Given the description of an element on the screen output the (x, y) to click on. 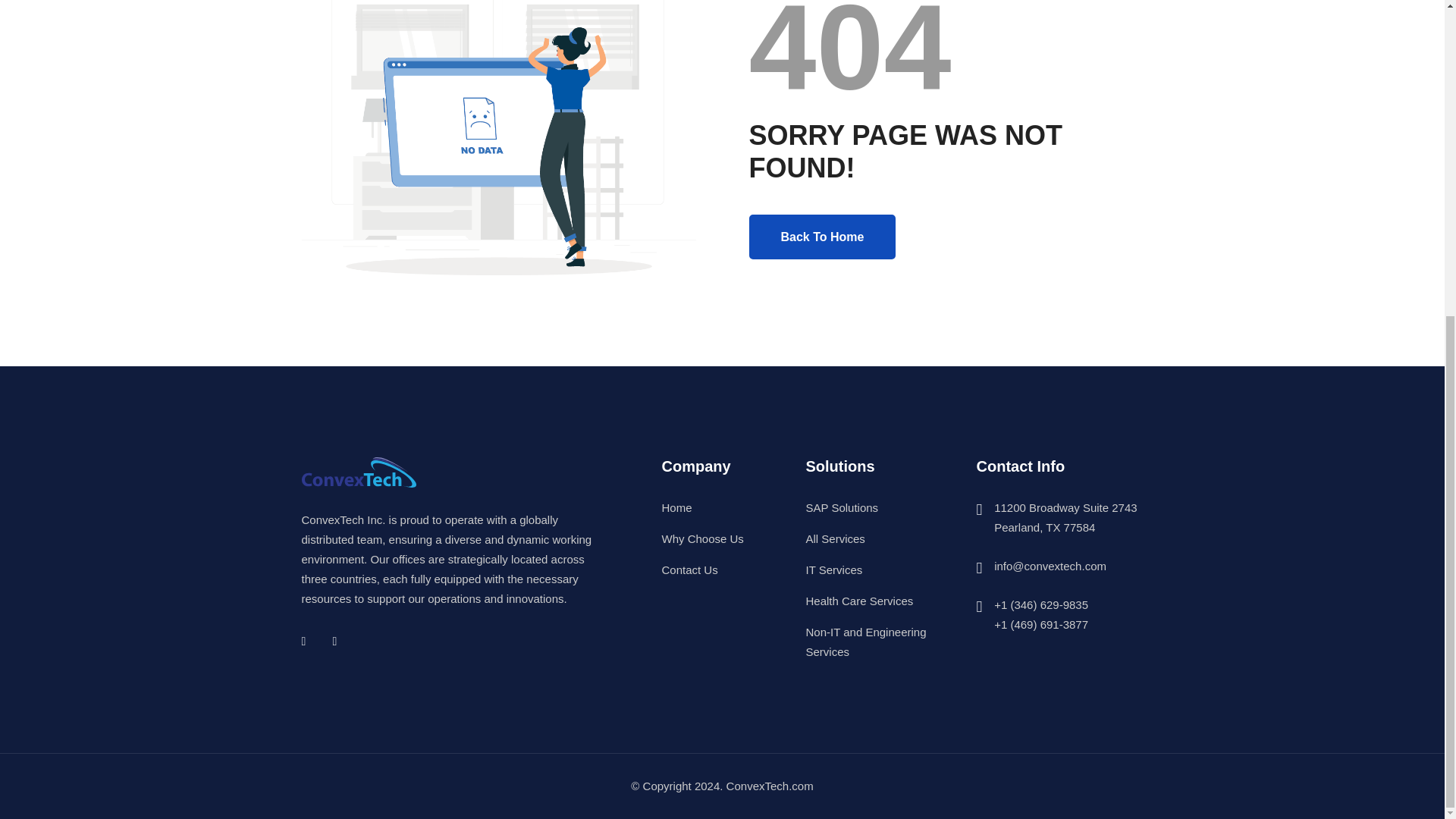
Back To Home (822, 236)
Home (676, 507)
IT Services (833, 569)
Contact Us (689, 569)
All Services (834, 538)
SAP Solutions (841, 507)
Why Choose Us (701, 538)
Health Care Services (858, 600)
Non-IT and Engineering Services (865, 641)
